Given the description of an element on the screen output the (x, y) to click on. 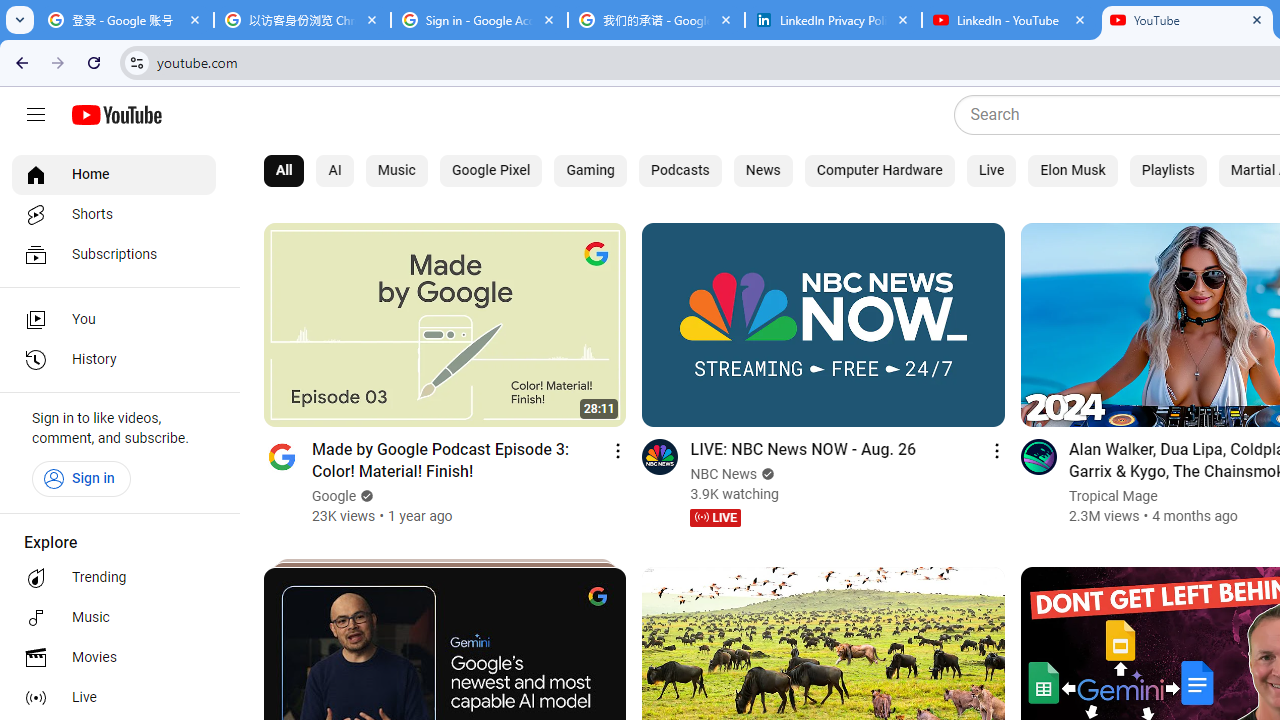
Go to channel (1038, 456)
Live (991, 170)
LinkedIn - YouTube (1010, 20)
News (763, 170)
NBC News (724, 474)
LIVE: NBC News NOW - Aug. 26 by NBC News 61,506 views (802, 448)
Computer Hardware (878, 170)
History (113, 359)
